Given the description of an element on the screen output the (x, y) to click on. 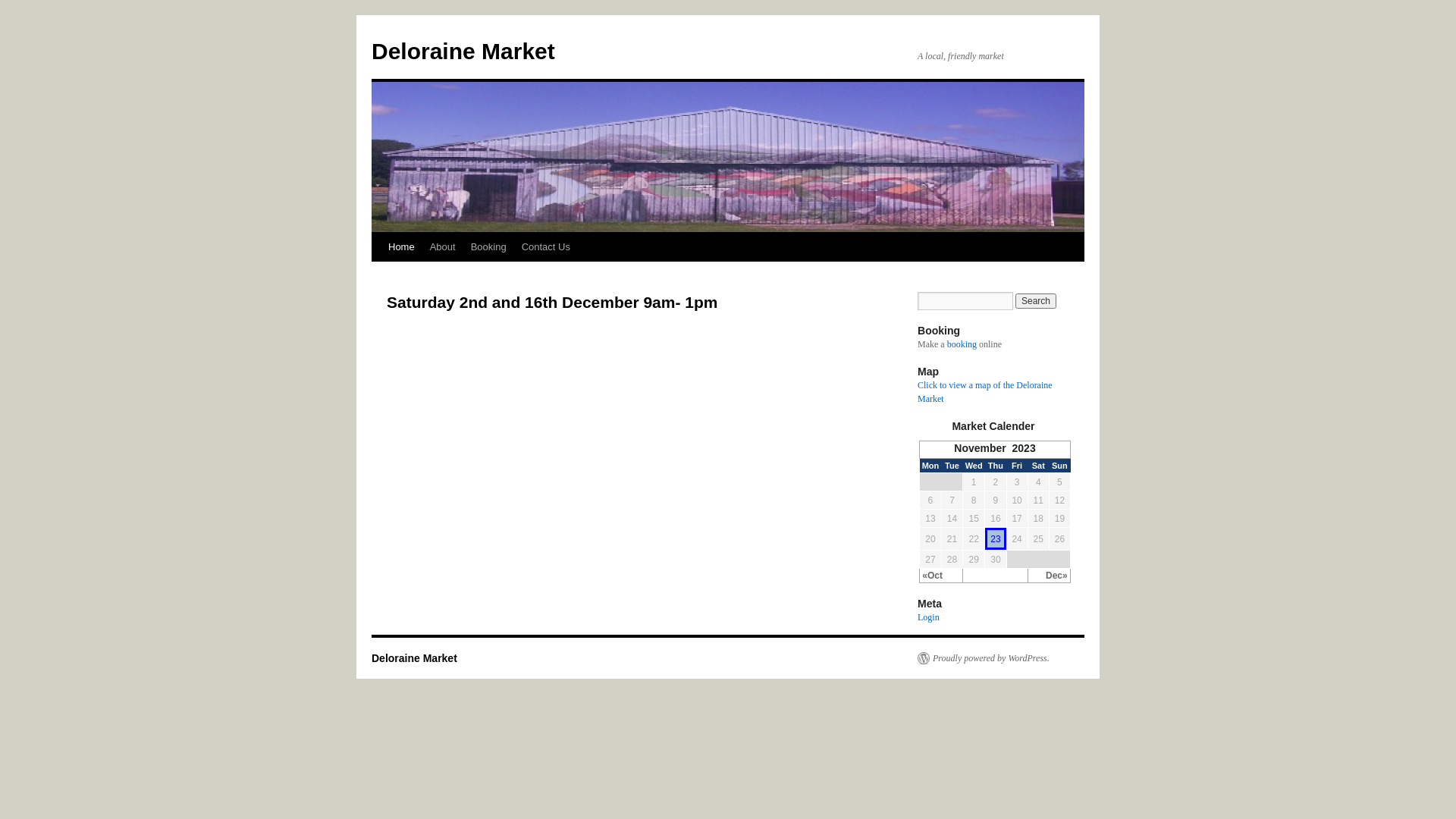
Click to view a map of the Deloraine Market Element type: text (984, 391)
Saturday 2nd and 16th December 9am- 1pm Element type: text (551, 301)
Deloraine Market Element type: text (414, 658)
Home Element type: text (401, 246)
Proudly powered by WordPress. Element type: text (983, 658)
Deloraine Market Element type: text (463, 50)
Booking Element type: text (488, 246)
Search Element type: text (1035, 300)
About Element type: text (442, 246)
Login Element type: text (928, 616)
booking Element type: text (961, 343)
Contact Us Element type: text (545, 246)
